Given the description of an element on the screen output the (x, y) to click on. 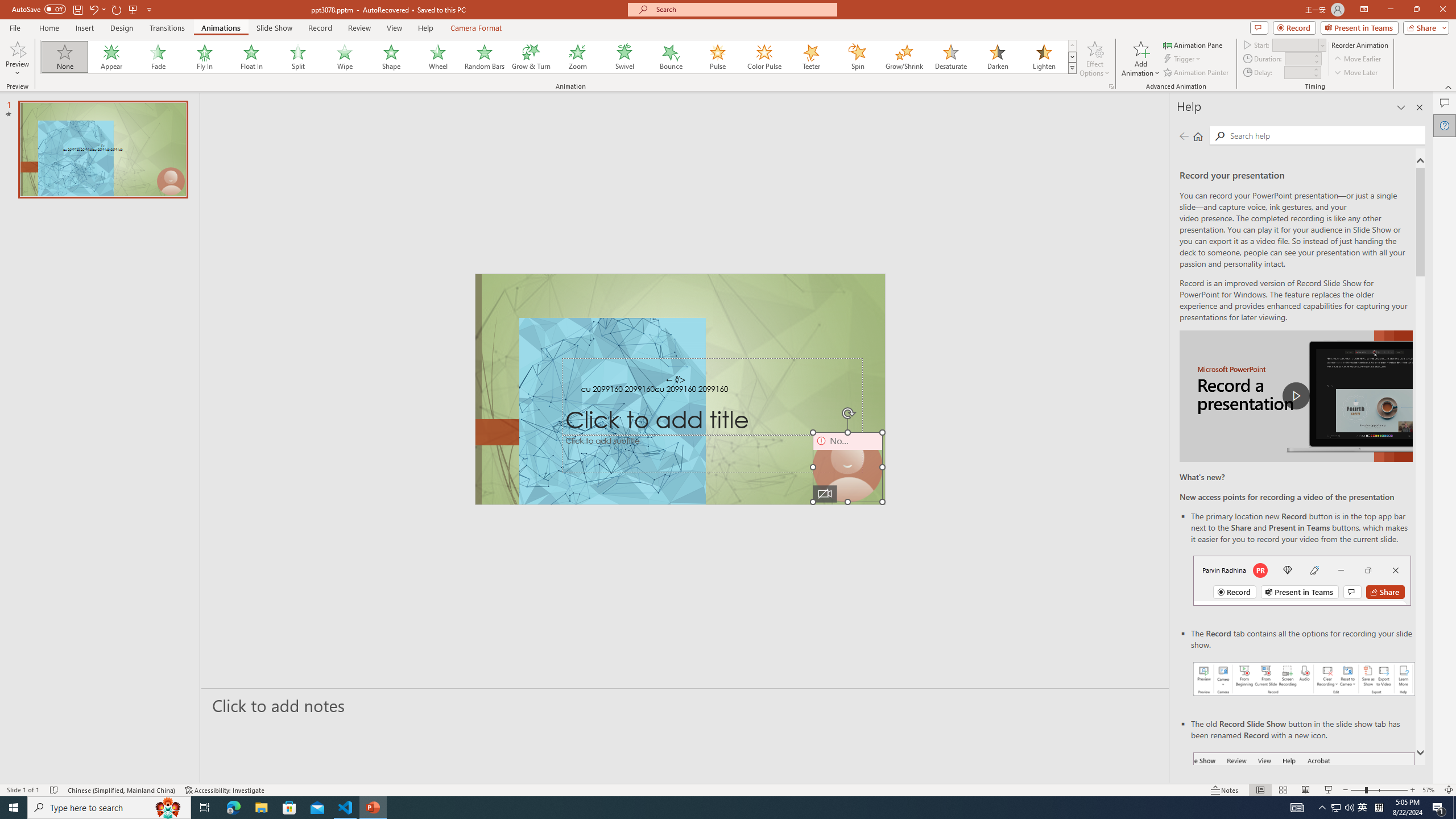
play Record a Presentation (1296, 395)
Zoom 57% (1430, 790)
